Given the description of an element on the screen output the (x, y) to click on. 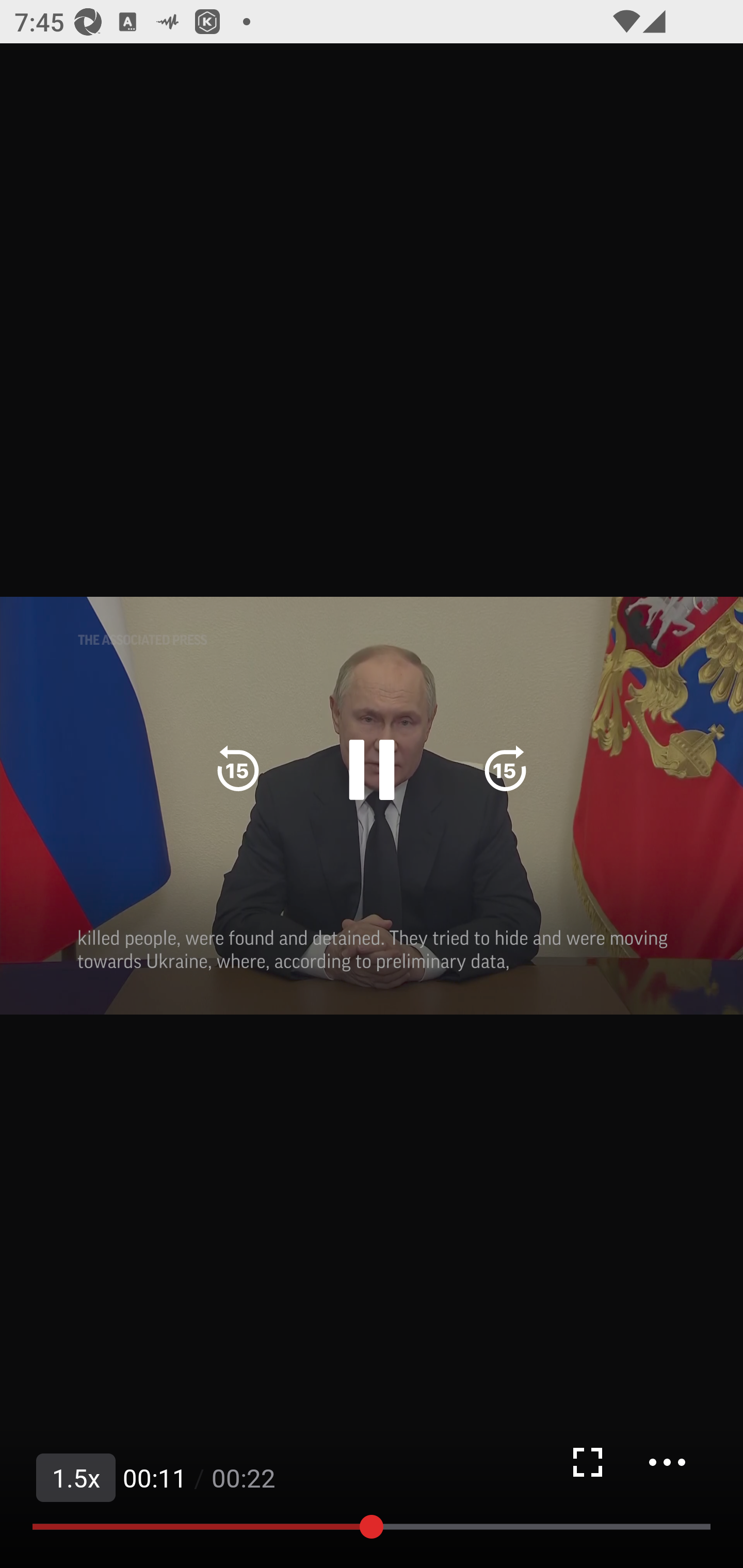
Rewind 15 seconds (238, 769)
Pause (371, 769)
fast forward 15 seconds (504, 769)
Fullscreen (587, 1462)
menu (666, 1462)
1.5x (75, 1477)
